Given the description of an element on the screen output the (x, y) to click on. 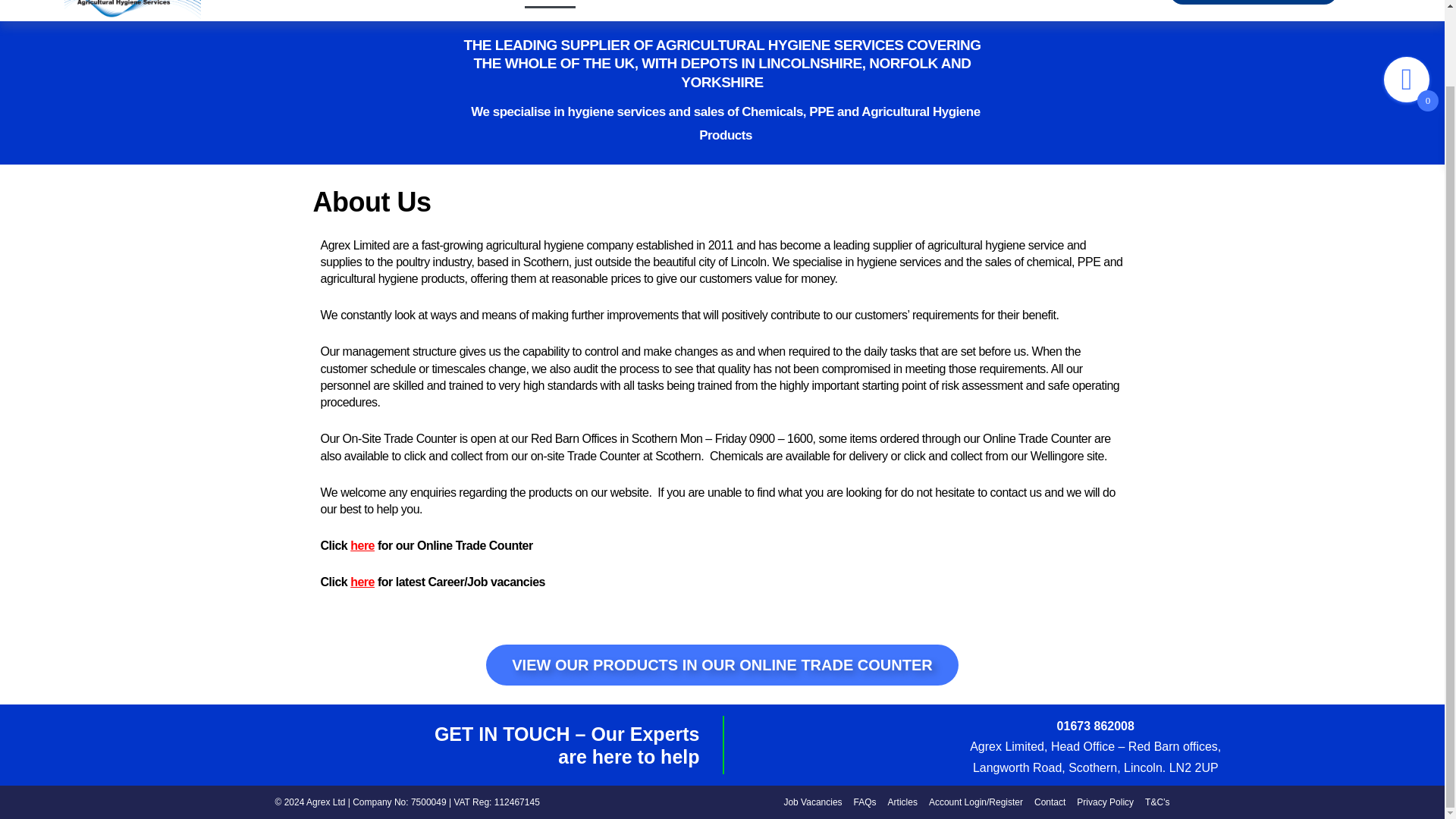
Contact (938, 4)
here (362, 545)
FAQs (864, 802)
Online Trade Counter (772, 4)
Articles (874, 4)
Job Vacancies (812, 802)
Home (486, 4)
Articles (902, 802)
here (362, 581)
Hygiene Services (643, 4)
VIEW OUR PRODUCTS IN OUR ONLINE TRADE COUNTER (722, 664)
Privacy Policy (1105, 802)
Contact (1049, 802)
About Us (549, 4)
